Given the description of an element on the screen output the (x, y) to click on. 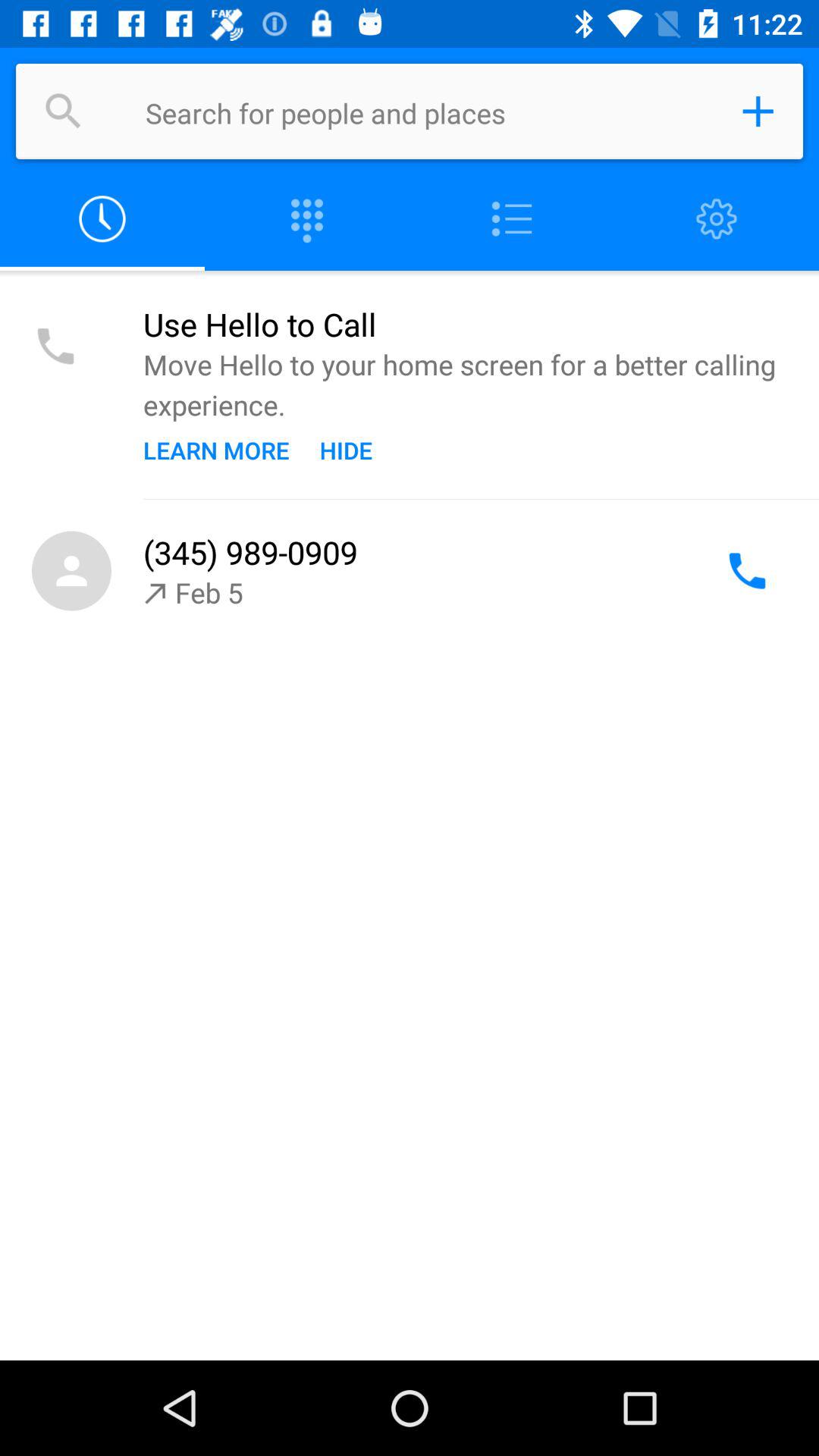
click to search people (427, 111)
